Given the description of an element on the screen output the (x, y) to click on. 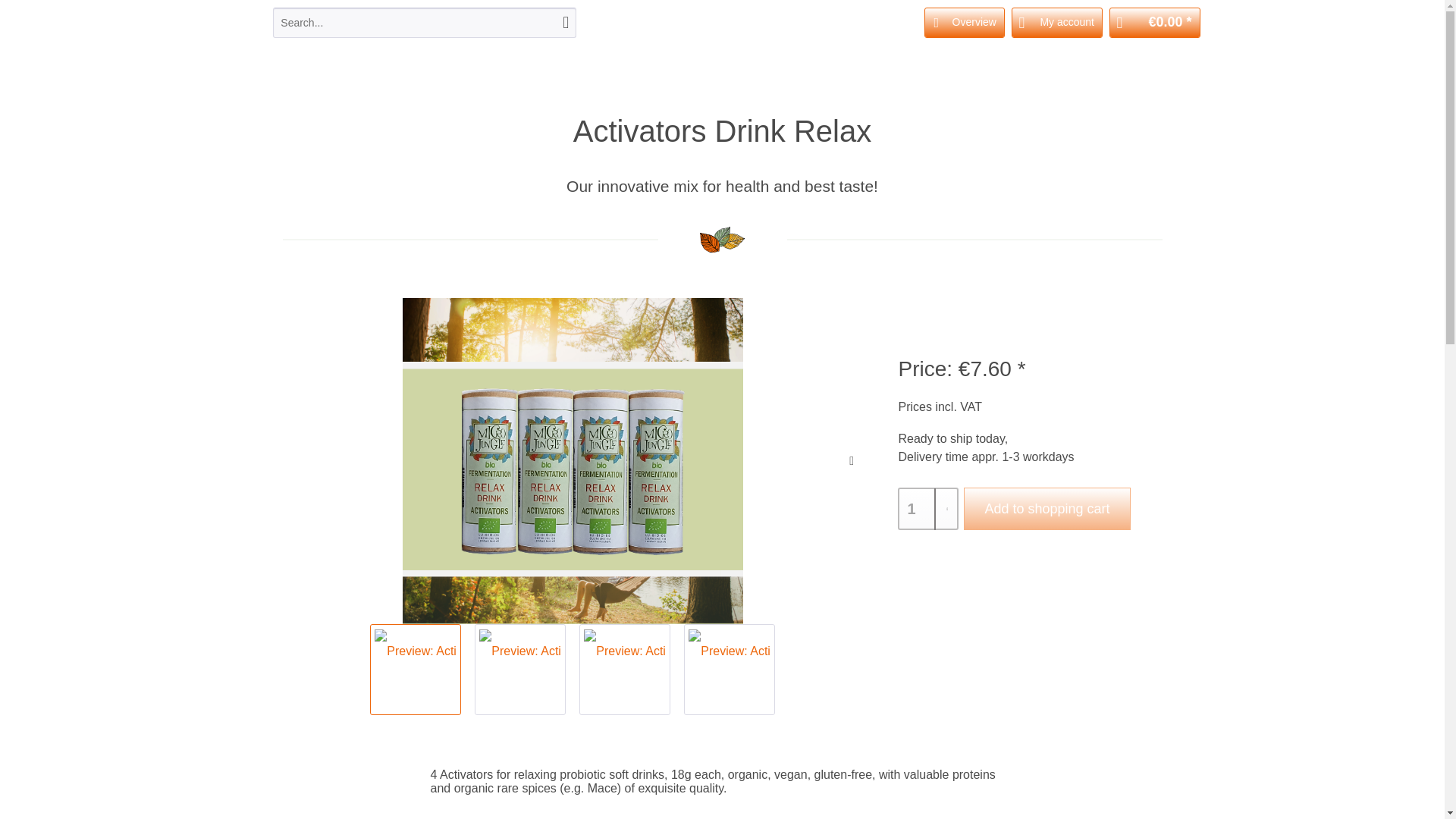
Overview (964, 22)
My account (1056, 22)
Preview: Activators Drink Relax (624, 669)
Add to shopping cart (1046, 508)
Preview: Activators Drink Relax (729, 669)
Overview (964, 22)
My account (1056, 22)
Preview: Activators Drink Relax (520, 669)
Shopping cart (1154, 22)
Preview: Activators Drink Relax (519, 650)
